Given the description of an element on the screen output the (x, y) to click on. 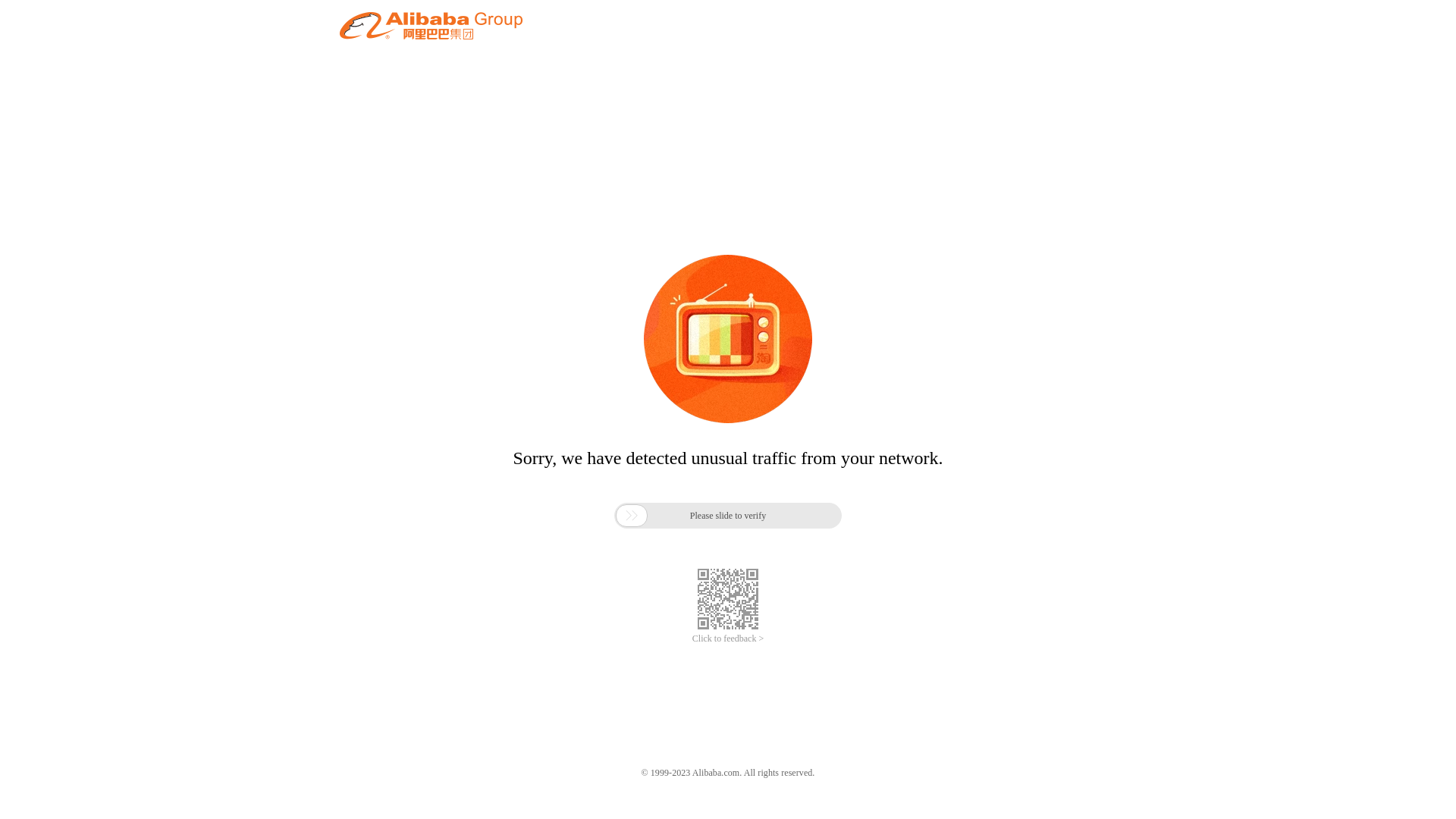
Click to feedback > Element type: text (727, 638)
